Given the description of an element on the screen output the (x, y) to click on. 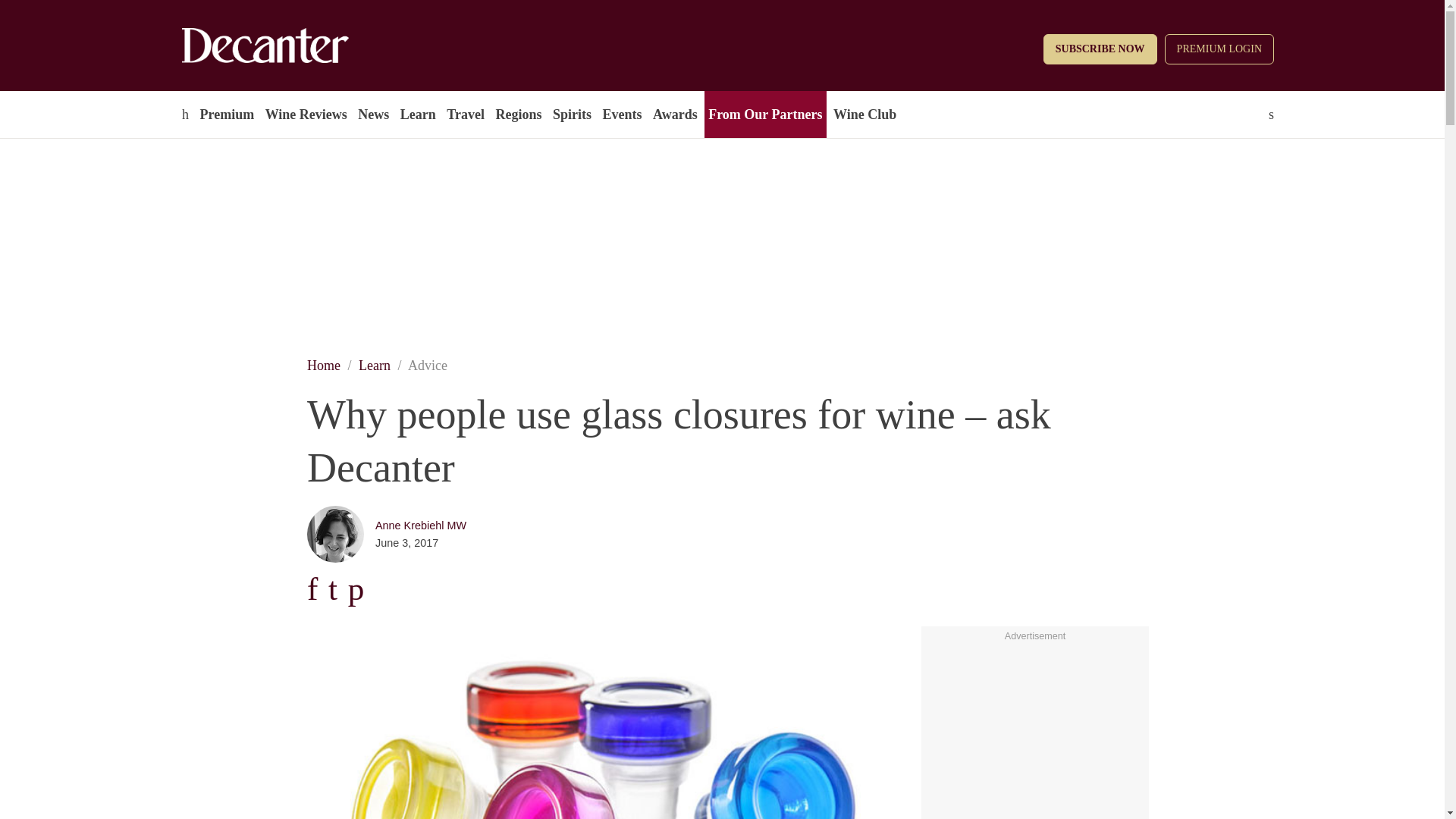
Wine Reviews (306, 114)
Decanter (297, 45)
Learn (417, 114)
Advertisement (1034, 732)
News (373, 114)
Premium (226, 114)
Travel (464, 114)
Awards (675, 114)
